Given the description of an element on the screen output the (x, y) to click on. 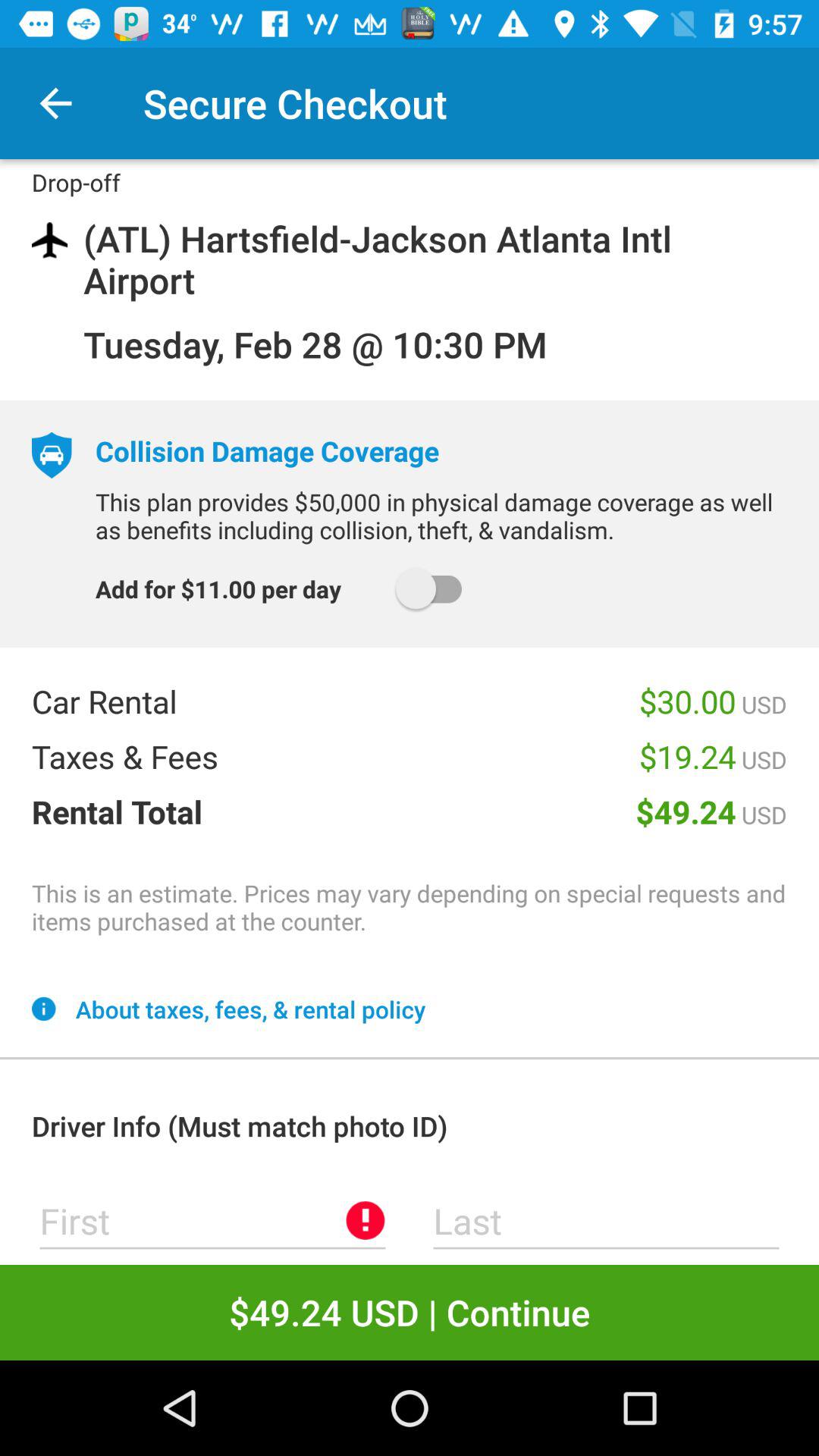
first name entry (212, 1220)
